Given the description of an element on the screen output the (x, y) to click on. 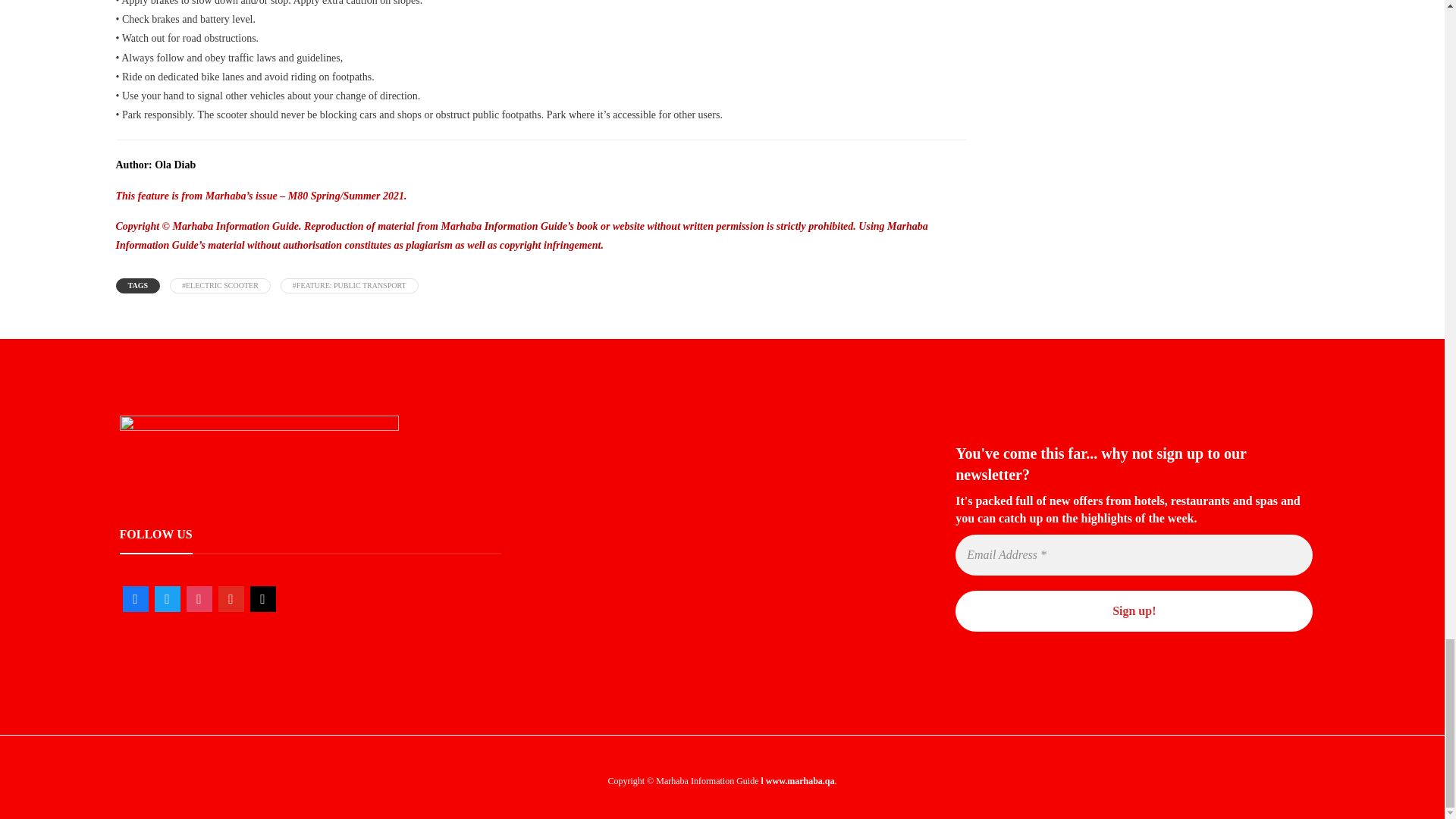
Sign up! (1134, 610)
Instagram (199, 598)
Facebook (135, 598)
Email Address (1134, 554)
Twitter (167, 598)
